Given the description of an element on the screen output the (x, y) to click on. 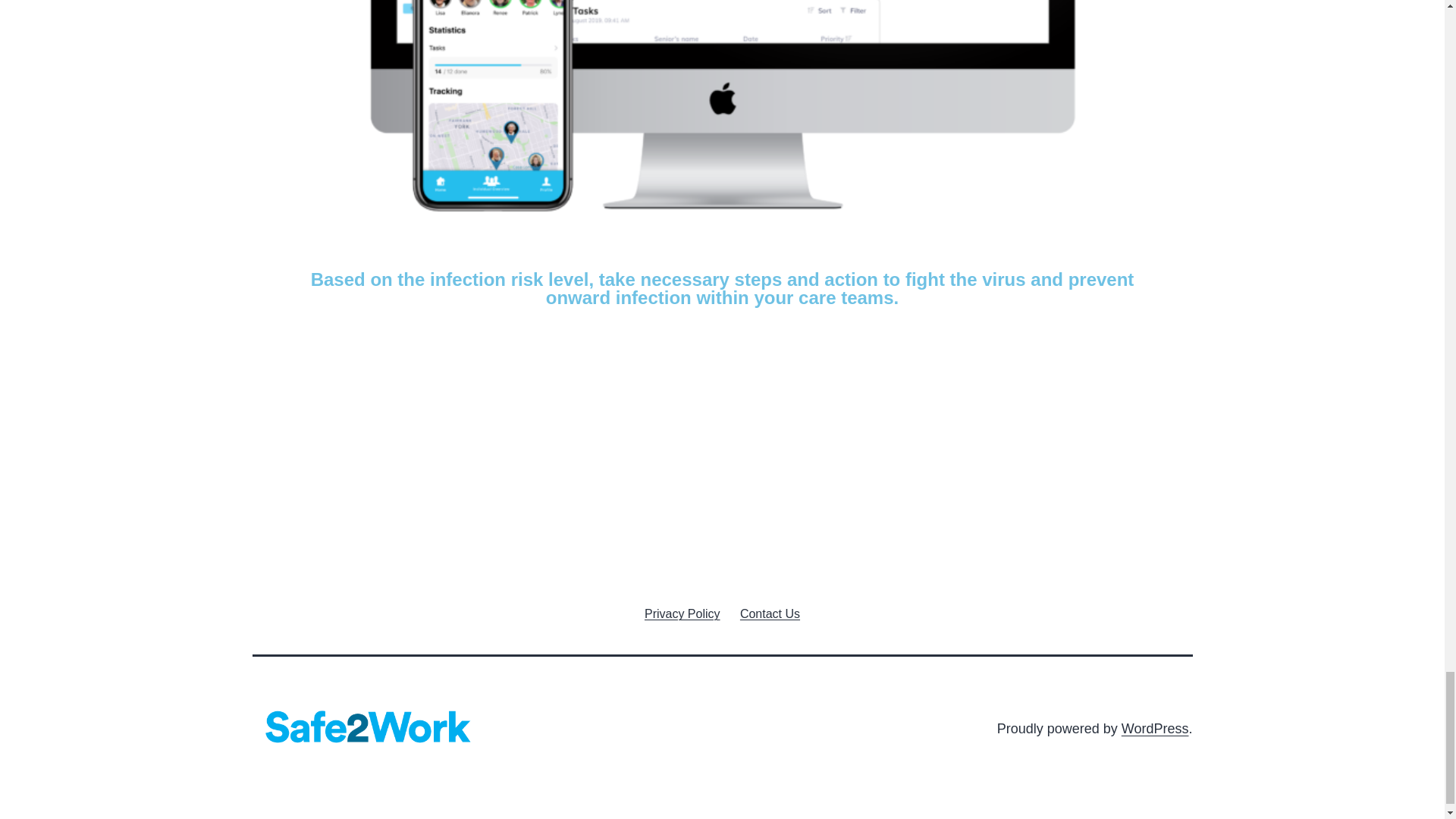
Privacy Policy (682, 613)
Contact Us (770, 613)
WordPress (1155, 728)
